Given the description of an element on the screen output the (x, y) to click on. 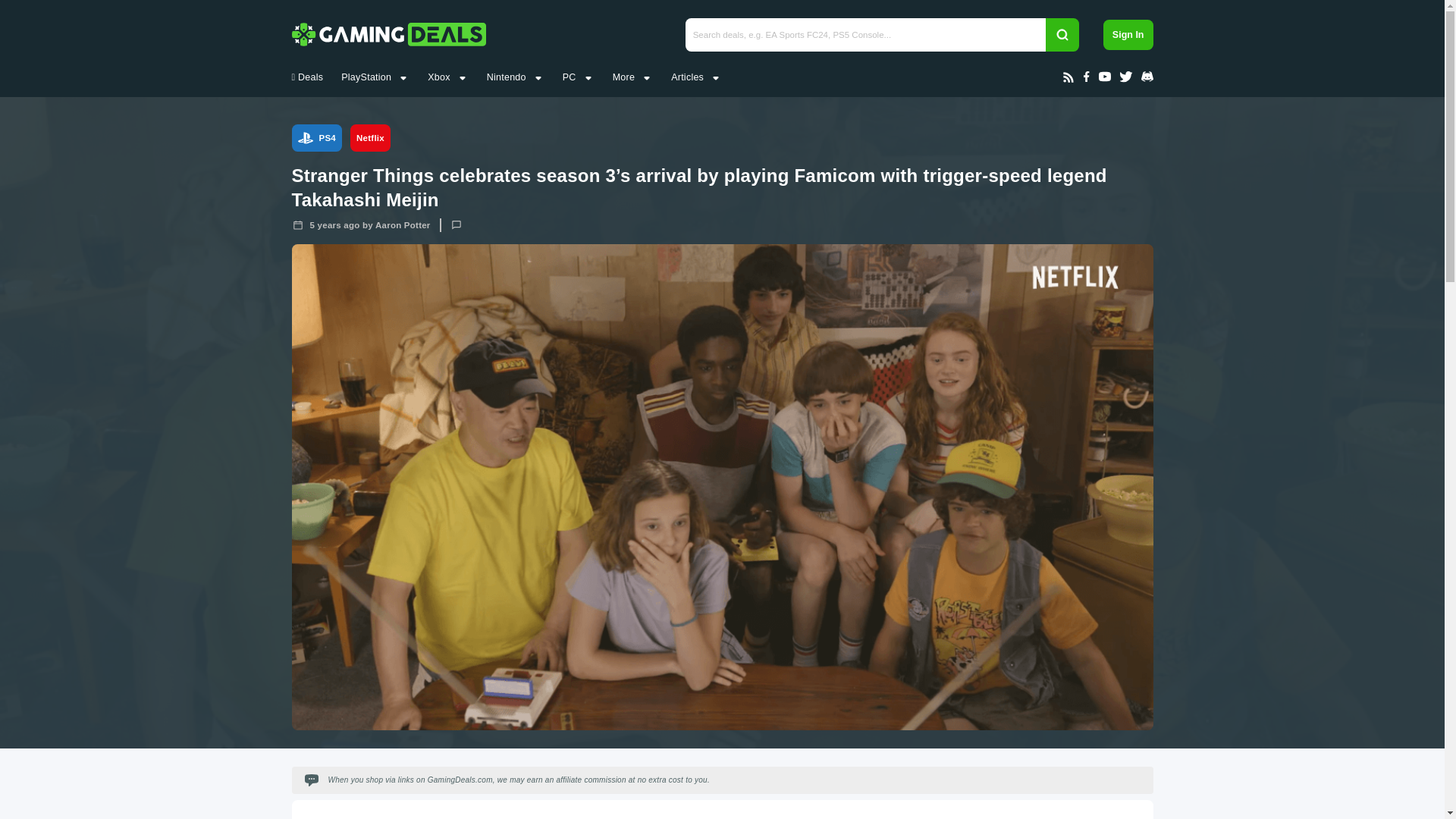
Sign In (1128, 34)
PlayStation (365, 76)
PS4 (316, 137)
Netflix (370, 137)
